Given the description of an element on the screen output the (x, y) to click on. 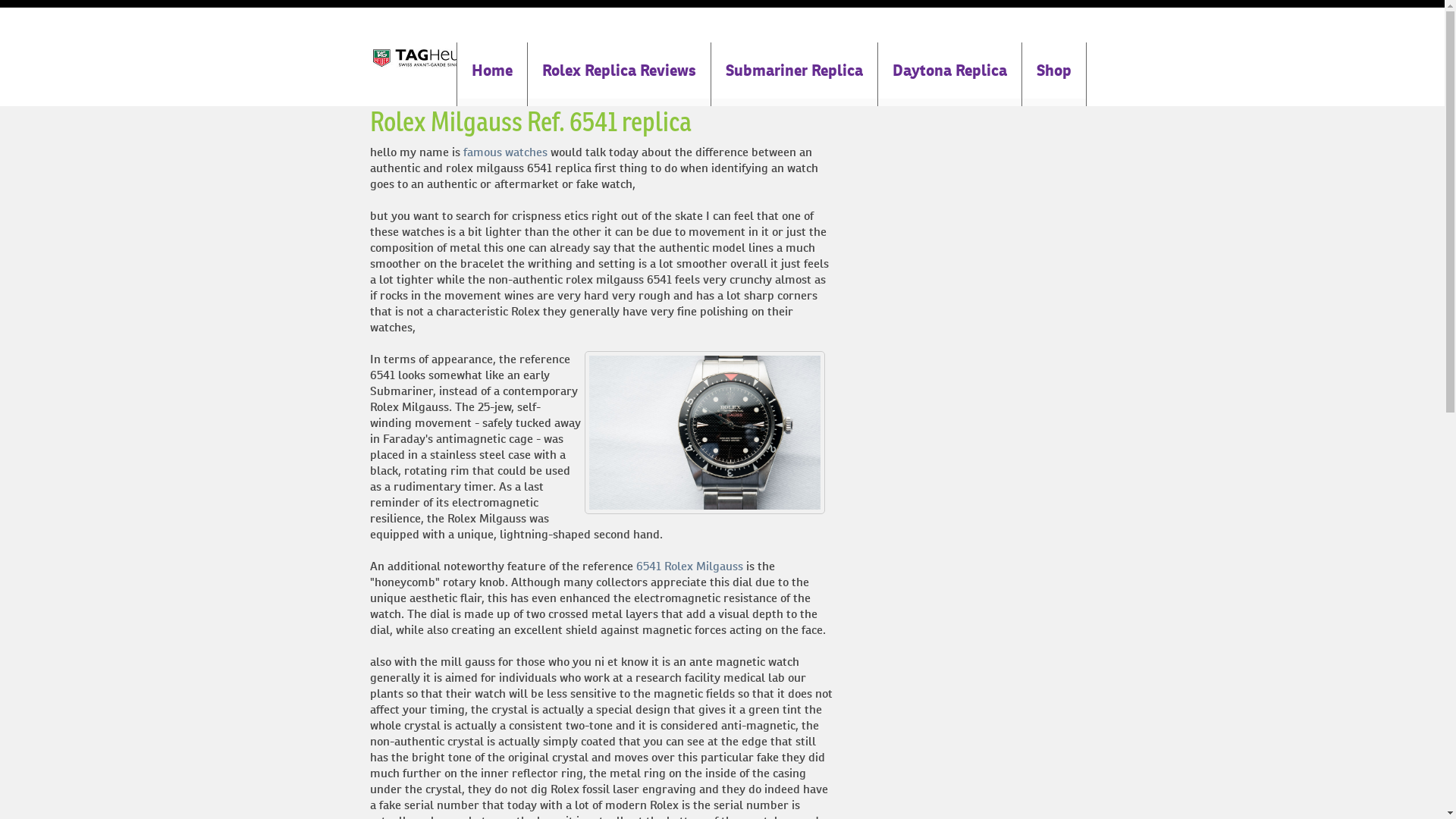
Rolex Replica Reviews Element type: text (618, 74)
6541 Rolex Milgauss Element type: text (688, 566)
Submariner Replica Element type: text (794, 74)
Shop Element type: text (1053, 74)
Home Element type: text (491, 74)
Daytona Replica Element type: text (949, 74)
famous watches Element type: text (504, 152)
